Given the description of an element on the screen output the (x, y) to click on. 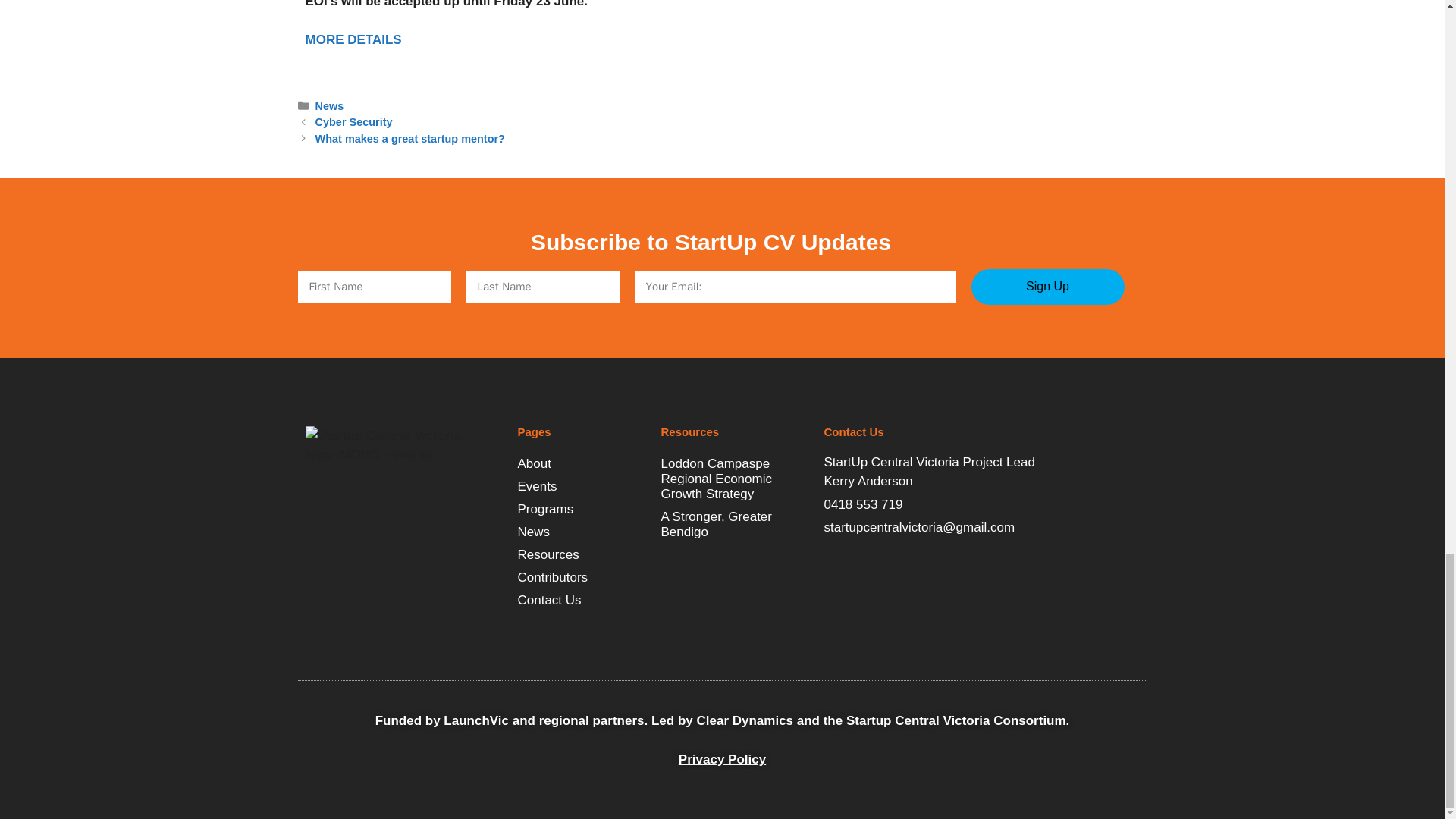
Resources (580, 554)
Loddon Campaspe Regional Economic Growth Strategy (735, 479)
News (329, 105)
Cyber Security (354, 121)
Contact Us (580, 599)
Next (410, 138)
About (580, 463)
Previous (354, 121)
Events (580, 486)
Contributors (580, 577)
